Given the description of an element on the screen output the (x, y) to click on. 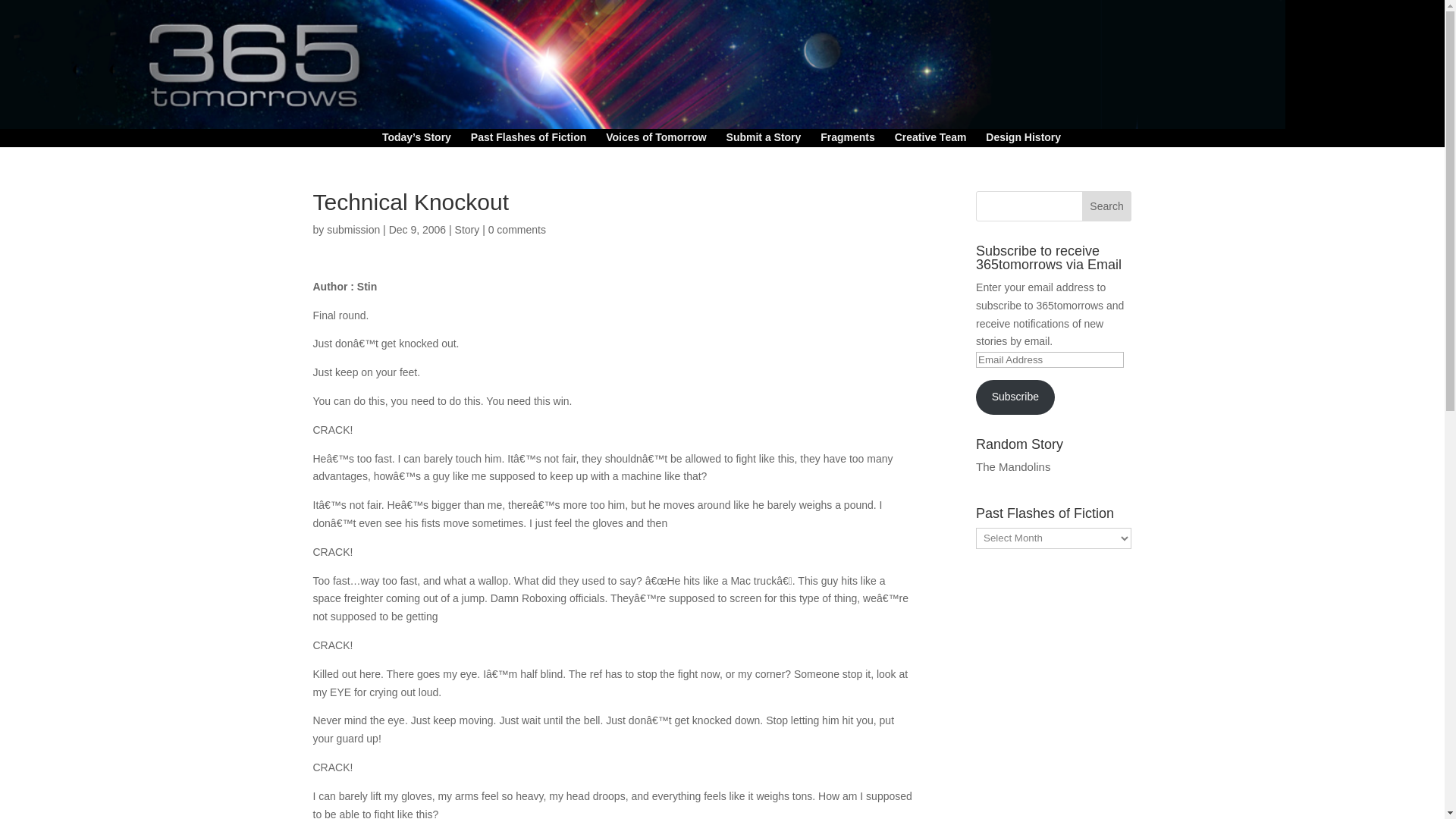
Search (1106, 205)
0 comments (516, 229)
Subscribe (1014, 397)
Past Flashes of Fiction (528, 139)
The Mandolins (1012, 466)
Creative Team (930, 139)
Fragments (848, 139)
Search (1106, 205)
Posts by submission (353, 229)
submission (353, 229)
Submit a Story (764, 139)
Design History (1023, 139)
Story (467, 229)
Voices of Tomorrow (655, 139)
